Given the description of an element on the screen output the (x, y) to click on. 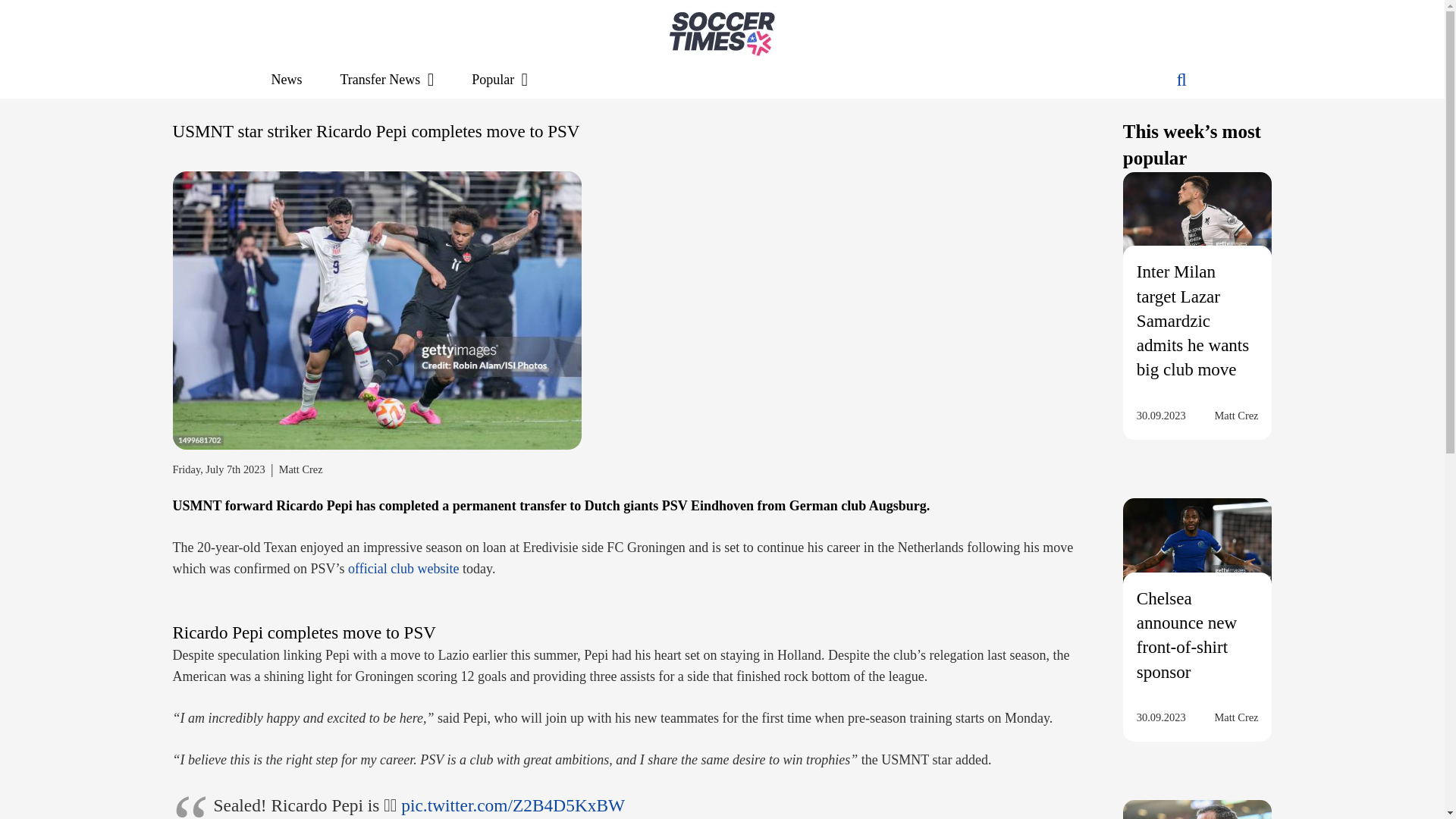
official club website (403, 568)
RB Leipzig fire Sporting Director Max Eberl (1197, 809)
News (285, 79)
Matt Crez (1236, 414)
Chelsea announce new front-of-shirt sponsor (1186, 634)
Chelsea announce new front-of-shirt sponsor (1197, 553)
Transfer News (386, 79)
USMNT star striker Ricardo Pepi completes move to PSV (377, 310)
Popular (499, 79)
